Given the description of an element on the screen output the (x, y) to click on. 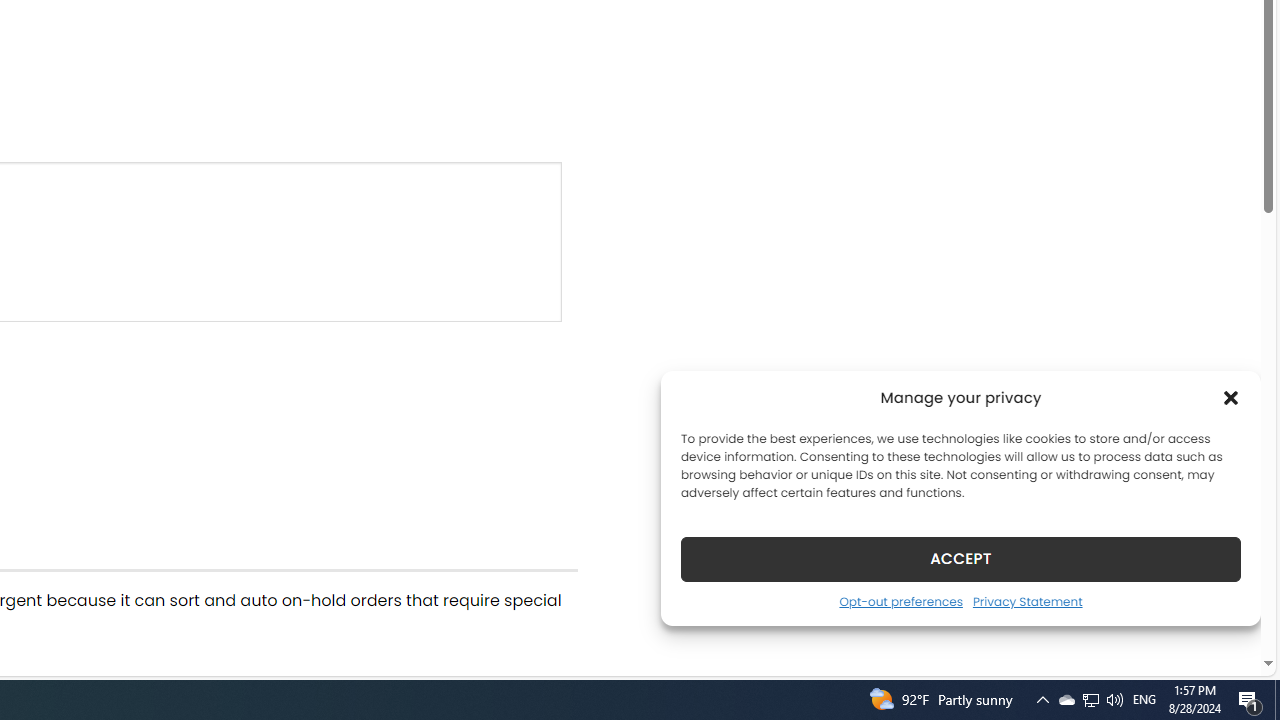
Opt-out preferences (900, 601)
Privacy Statement (1026, 601)
ACCEPT (960, 558)
Class: cmplz-close (1231, 397)
